Given the description of an element on the screen output the (x, y) to click on. 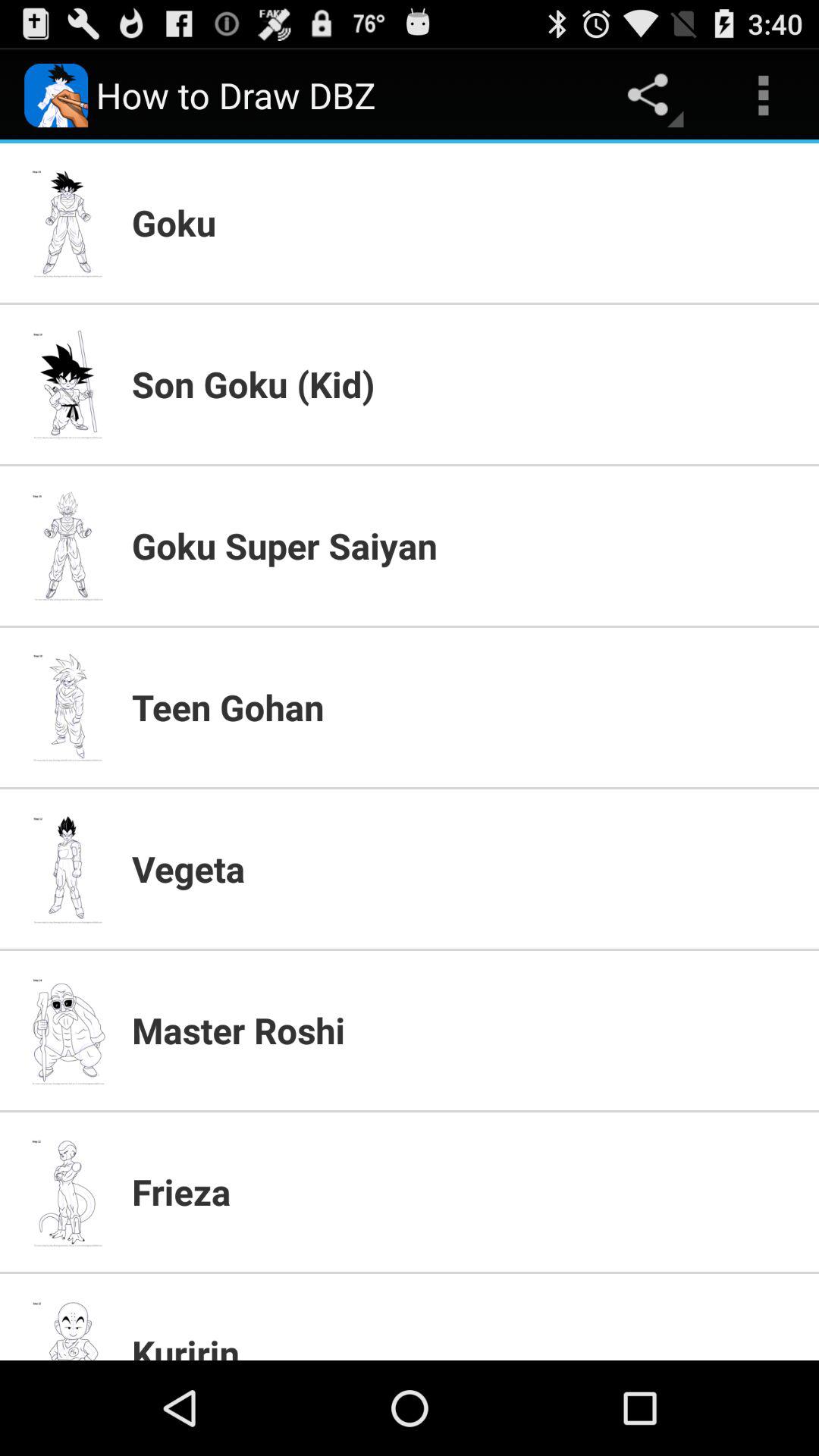
turn off the master roshi item (465, 1030)
